Given the description of an element on the screen output the (x, y) to click on. 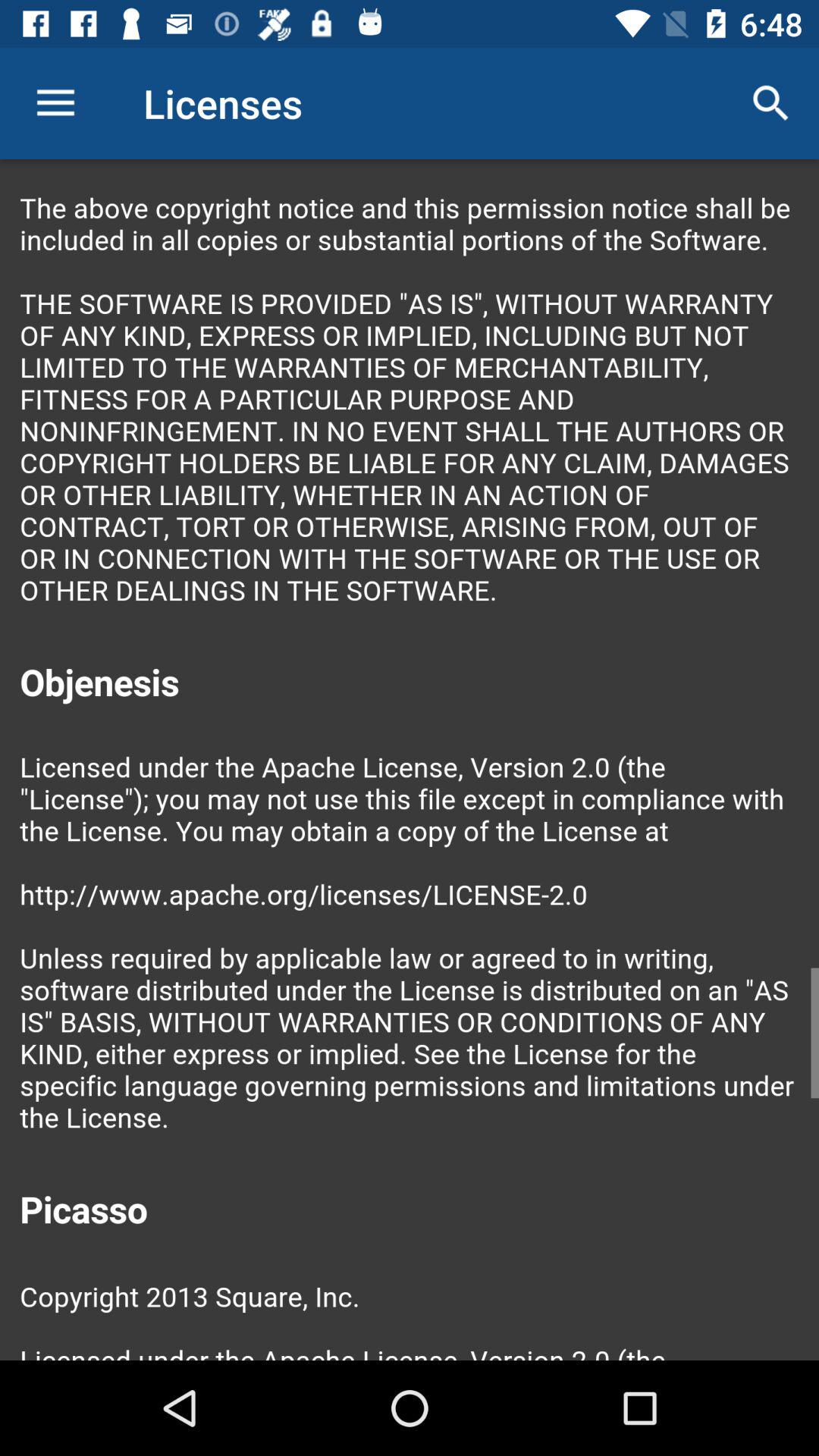
files (409, 759)
